Given the description of an element on the screen output the (x, y) to click on. 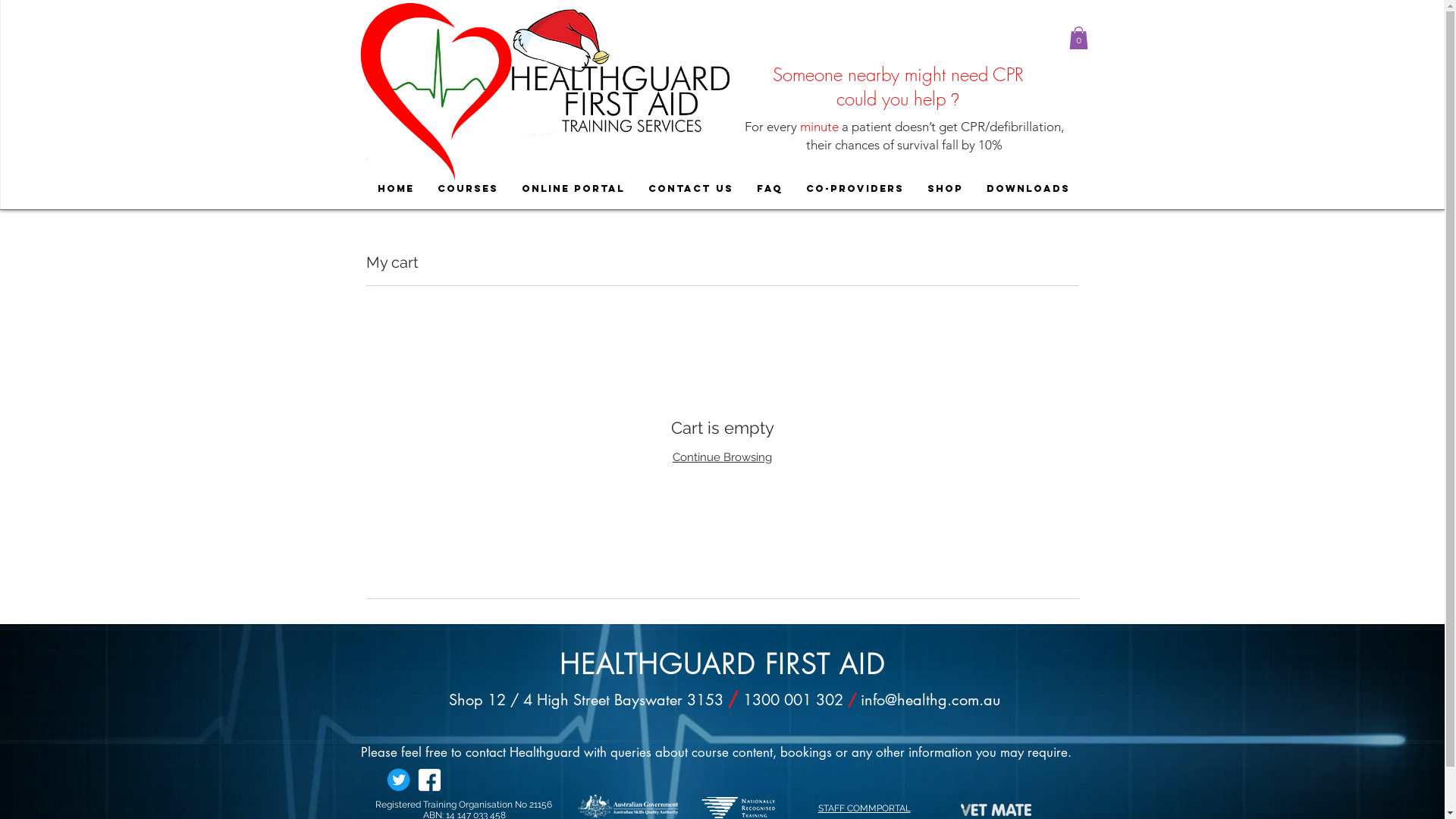
Continue Browsing Element type: text (721, 457)
SHOP Element type: text (943, 188)
0 Element type: text (1078, 37)
DOWNLOADS Element type: text (1026, 188)
STAFF COMMPORTAL Element type: text (863, 808)
info@healthg.com.au Element type: text (929, 699)
COURSES Element type: text (466, 188)
CONTACT US Element type: text (689, 188)
FAQ Element type: text (768, 188)
ONLINE PORTAL Element type: text (572, 188)
HOME Element type: text (395, 188)
CO-PROVIDERS Element type: text (853, 188)
